Given the description of an element on the screen output the (x, y) to click on. 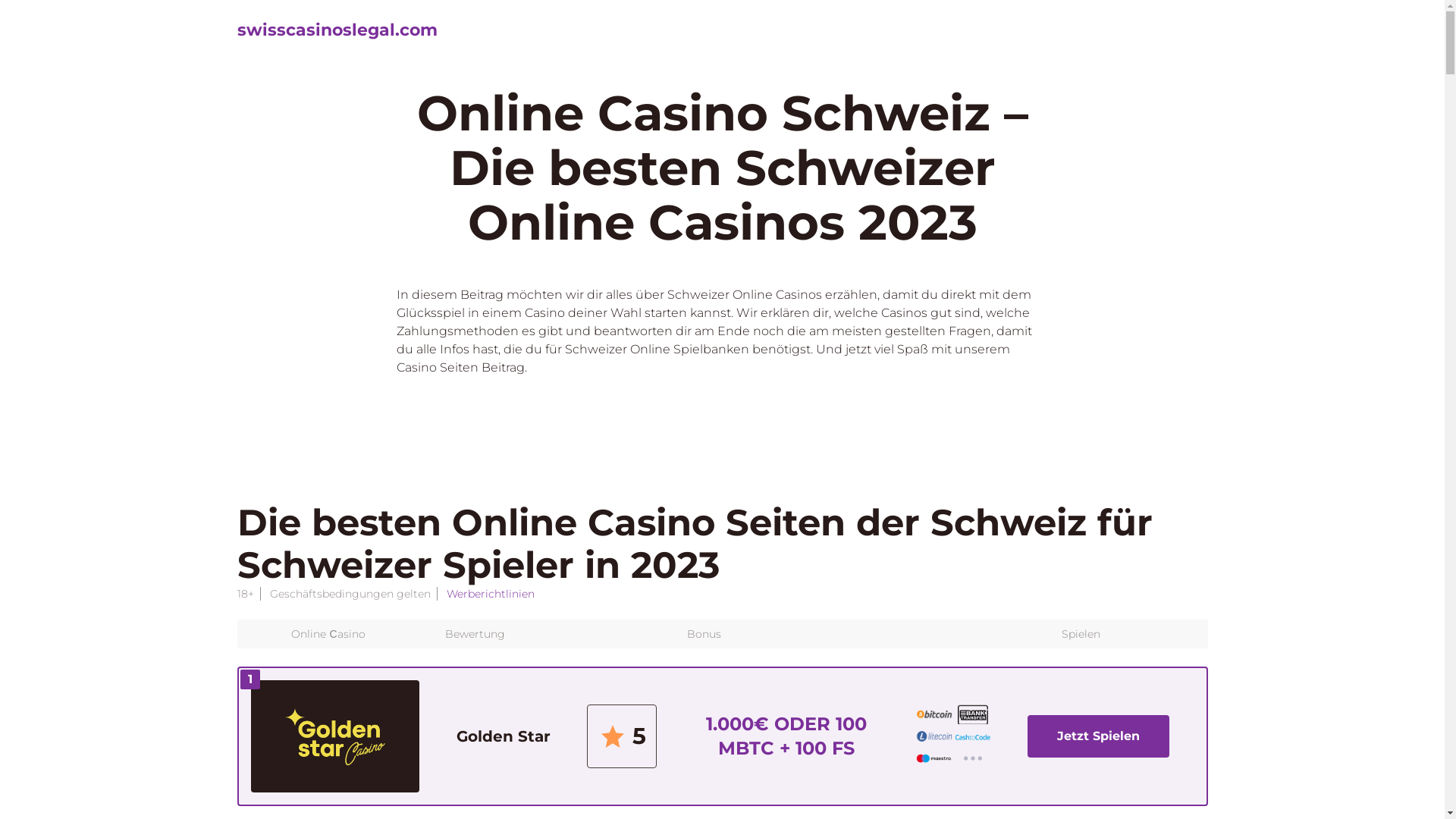
Jetzt Spielen Element type: text (1097, 736)
swisscasinoslegal.com Element type: text (336, 29)
Werberichtlinien Element type: text (489, 593)
